Given the description of an element on the screen output the (x, y) to click on. 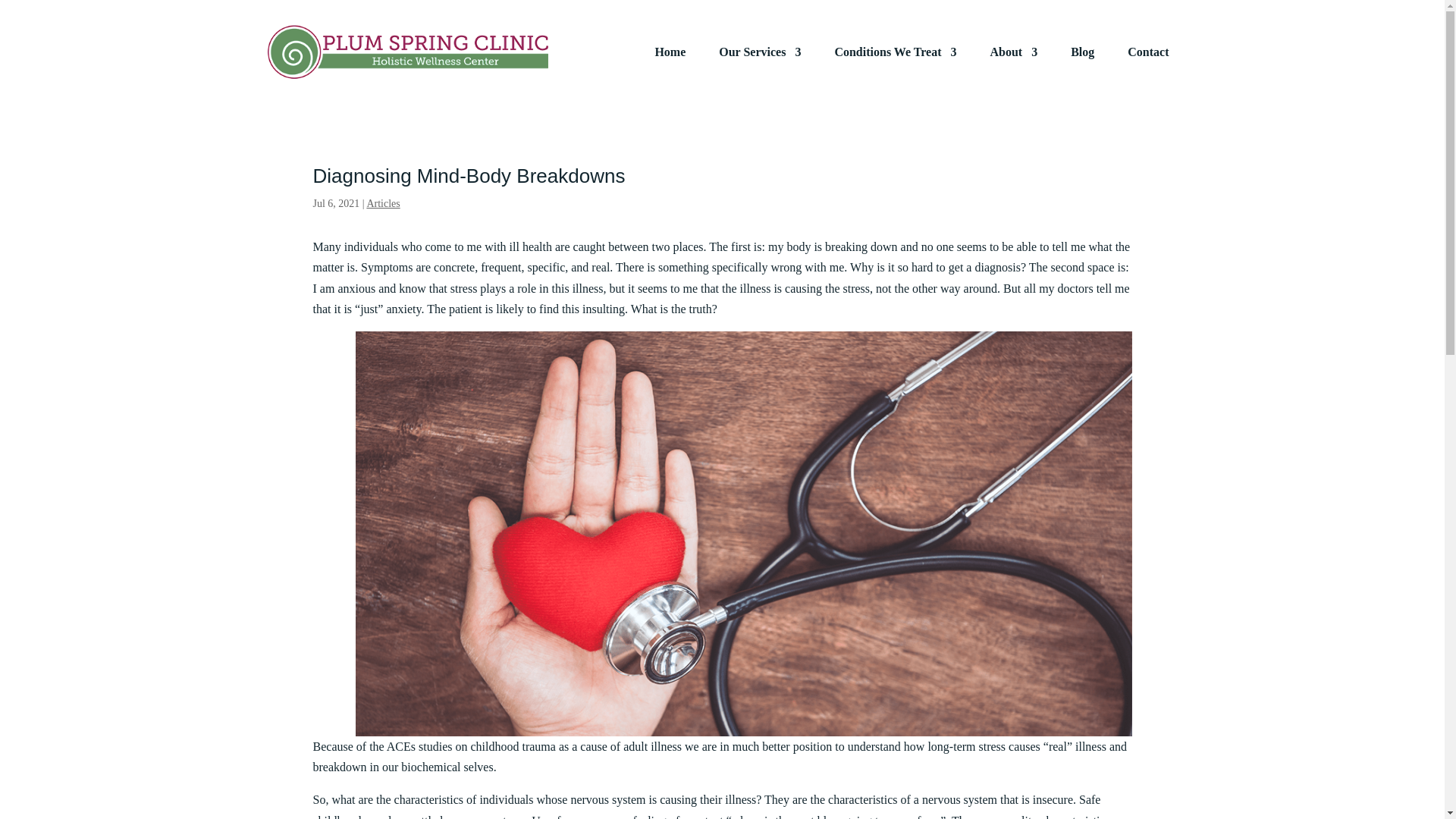
Conditions We Treat (895, 52)
Our Services (759, 52)
